Given the description of an element on the screen output the (x, y) to click on. 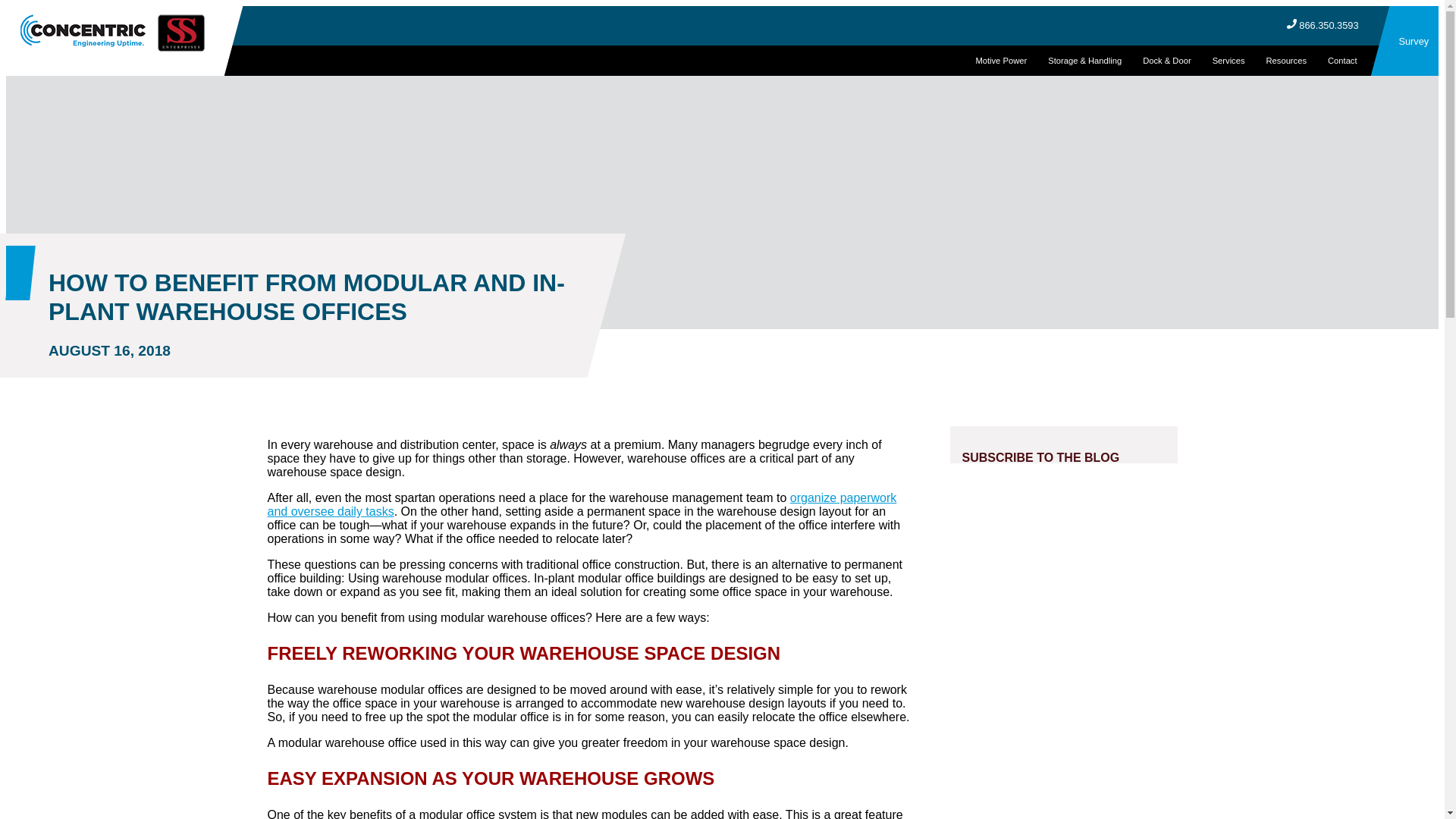
organize paperwork and oversee daily tasks (581, 504)
Resources (1286, 60)
866.350.3593 (1328, 25)
Contact (1342, 60)
Motive Power (999, 60)
Services (1228, 60)
